Given the description of an element on the screen output the (x, y) to click on. 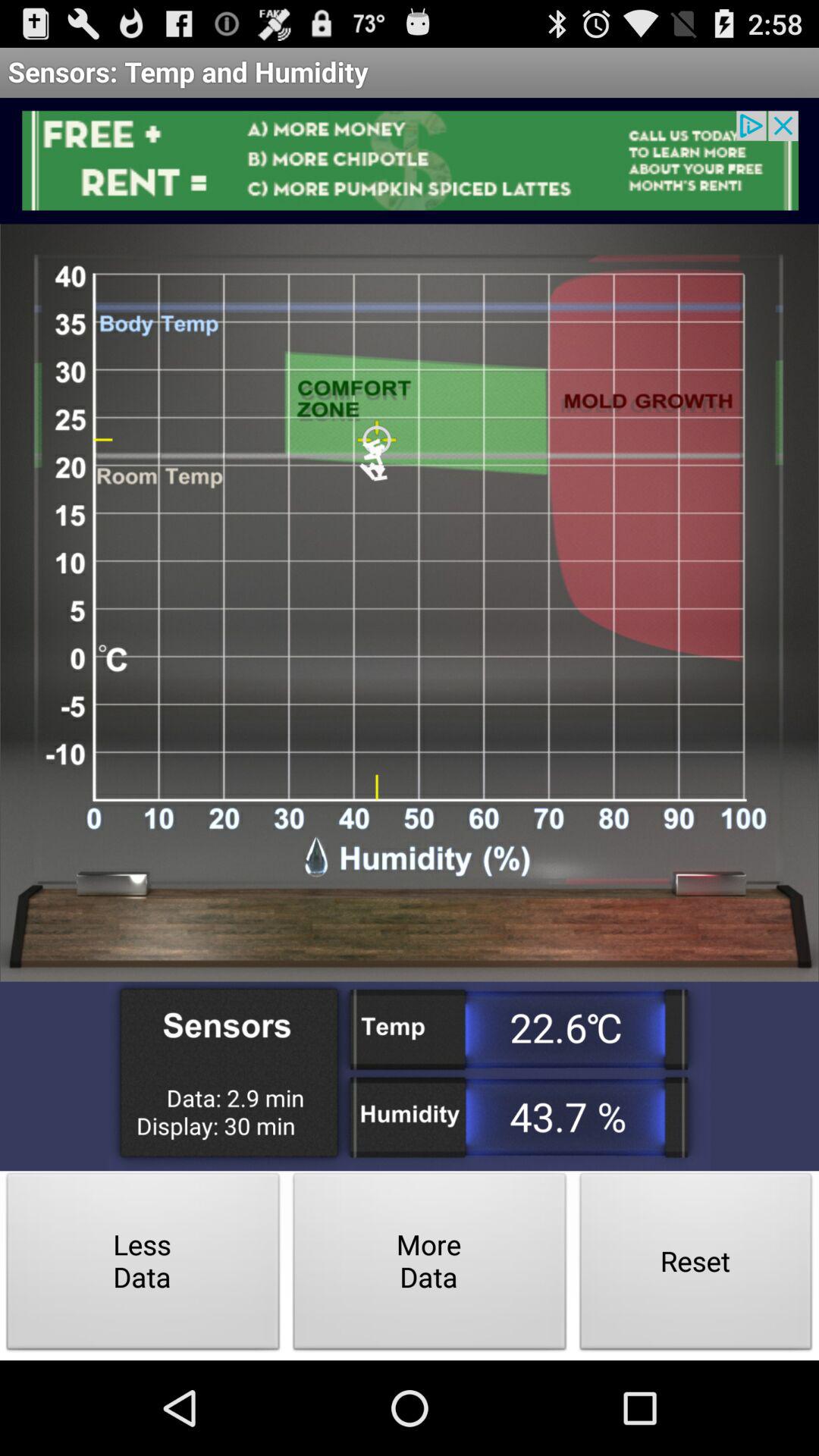
select the icon to the left of the more
data icon (143, 1265)
